Given the description of an element on the screen output the (x, y) to click on. 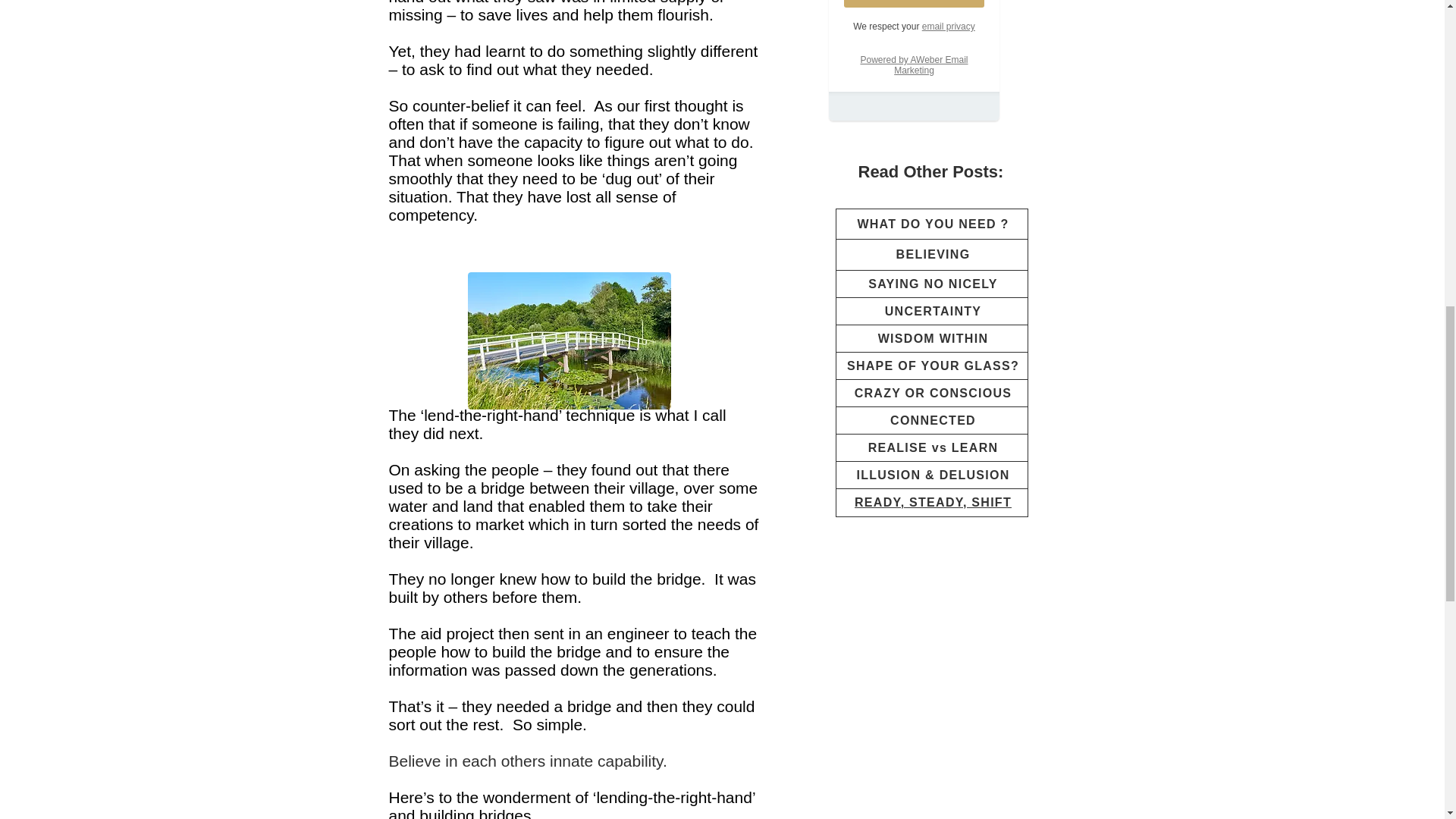
REALISE vs LEARN (932, 447)
CONNECTED (932, 420)
Embedded Content (913, 74)
WHAT DO YOU NEED ? (933, 223)
SAYING NO NICELY (932, 283)
READY, STEADY, SHIFT (932, 502)
UNCERTAINTY (933, 310)
BELIEVING (933, 254)
WISDOM WITHIN (932, 338)
SHAPE OF YOUR GLASS? (933, 365)
CRAZY OR CONSCIOUS (932, 392)
